Given the description of an element on the screen output the (x, y) to click on. 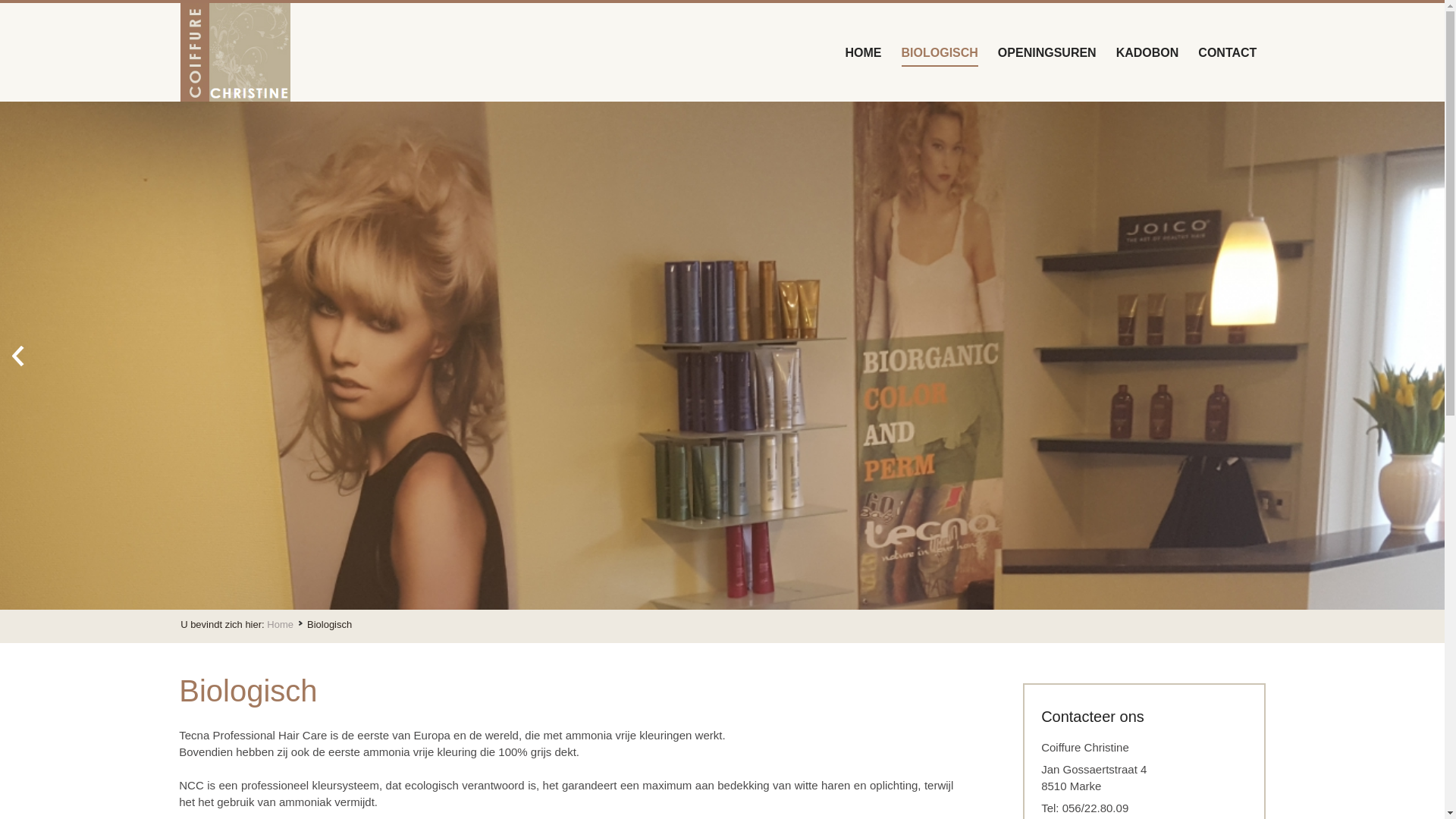
CONTACT Element type: text (1227, 51)
BIOLOGISCH Element type: text (939, 51)
Home Element type: text (286, 624)
HOME Element type: text (863, 51)
OPENINGSUREN Element type: text (1046, 51)
KADOBON Element type: text (1147, 51)
